Given the description of an element on the screen output the (x, y) to click on. 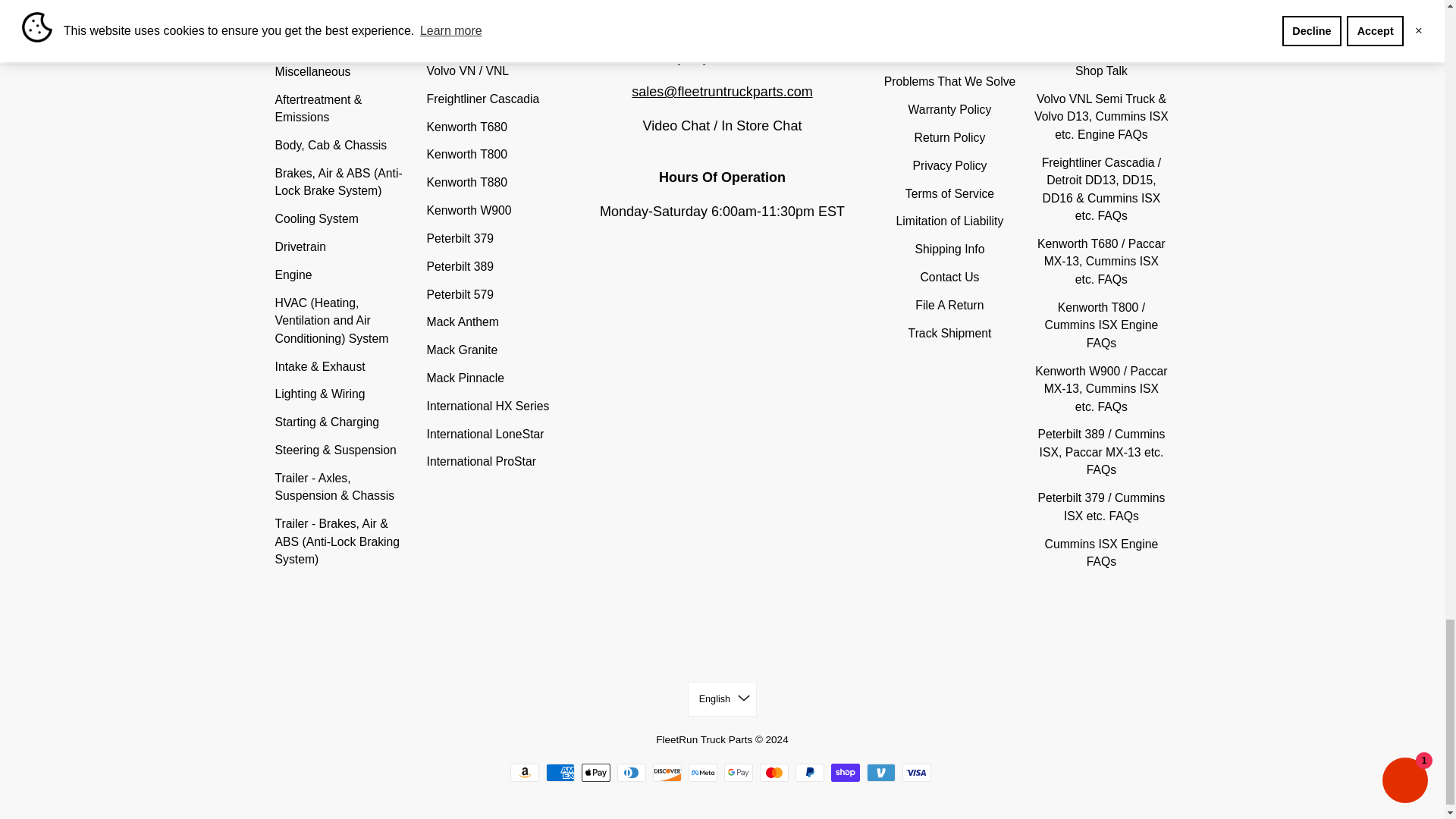
Apple Pay (595, 772)
Diners Club (631, 772)
Discover (666, 772)
Amazon (524, 772)
Meta Pay (702, 772)
American Express (560, 772)
